Given the description of an element on the screen output the (x, y) to click on. 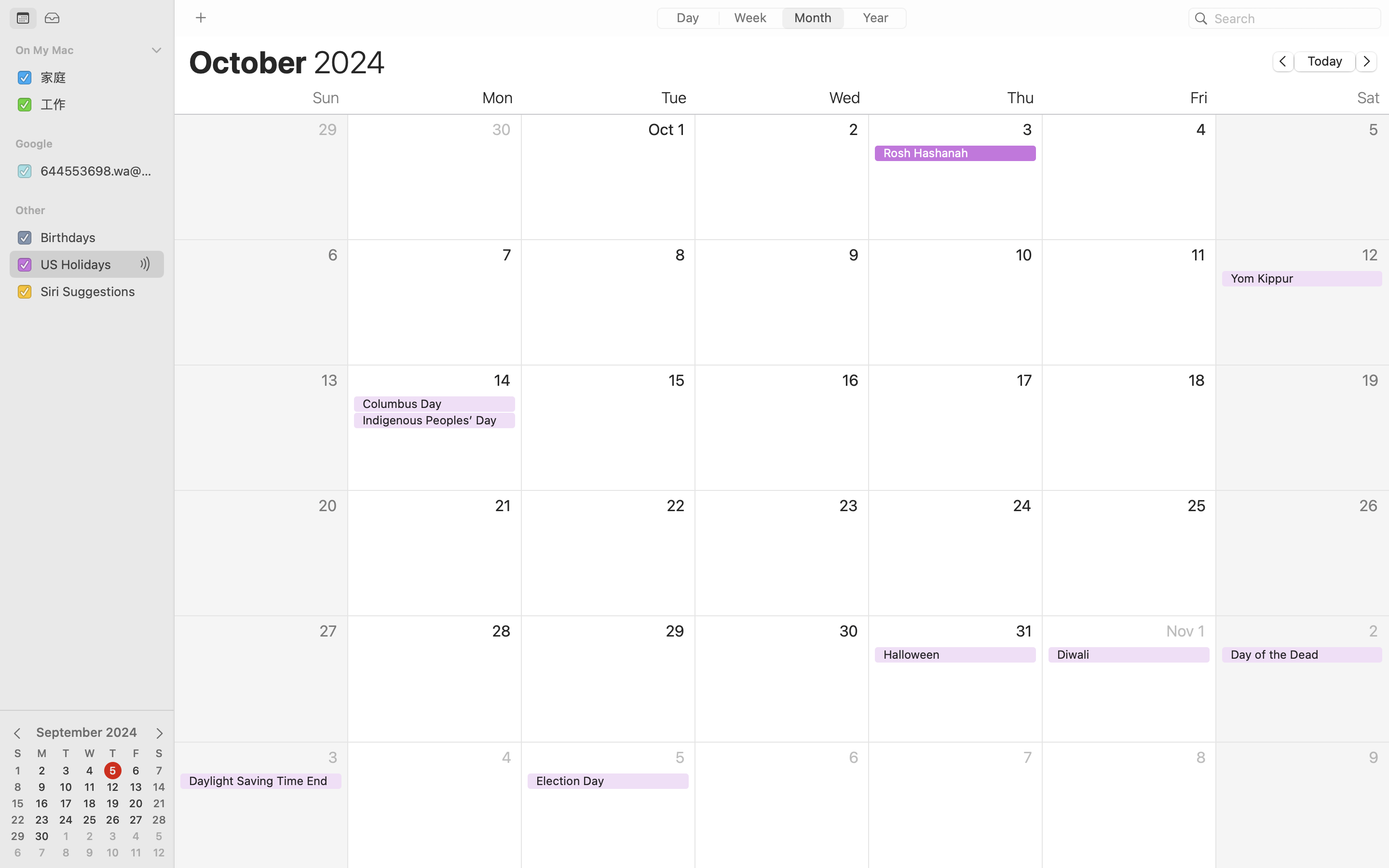
29 Element type: AXStaticText (17, 836)
3 Element type: AXStaticText (66, 770)
4 Element type: AXStaticText (135, 836)
9 Element type: AXStaticText (41, 787)
6 Element type: AXStaticText (17, 852)
